Given the description of an element on the screen output the (x, y) to click on. 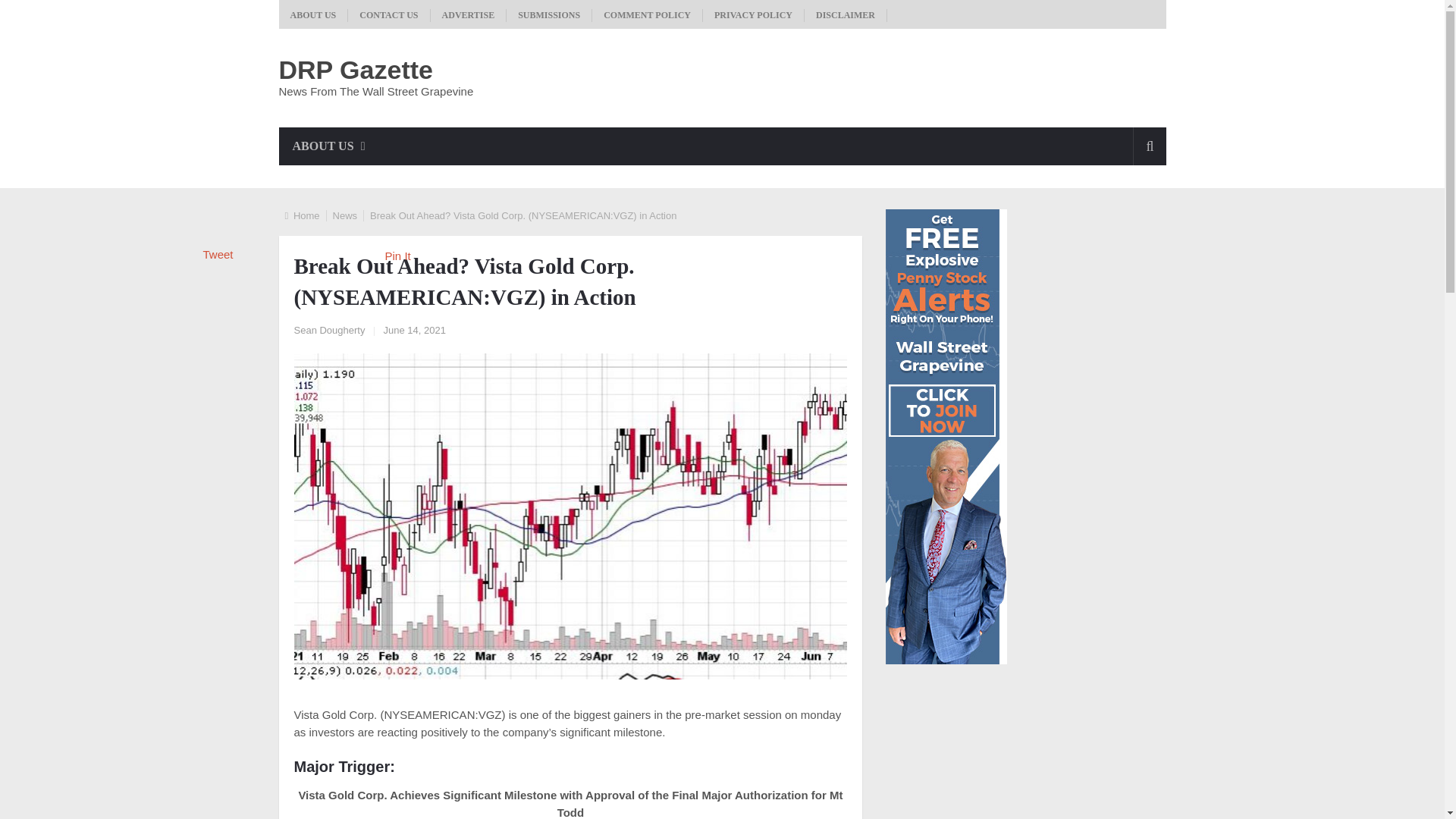
COMMENT POLICY (647, 15)
Tweet (217, 254)
PRIVACY POLICY (754, 15)
Home (307, 215)
SUBMISSIONS (549, 15)
ABOUT US (314, 15)
ADVERTISE (468, 15)
Sean Dougherty (329, 329)
DISCLAIMER (845, 15)
Pin It (397, 255)
News (345, 215)
CONTACT US (388, 15)
DRP Gazette (355, 69)
Posts by Sean Dougherty (329, 329)
ABOUT US (329, 146)
